Given the description of an element on the screen output the (x, y) to click on. 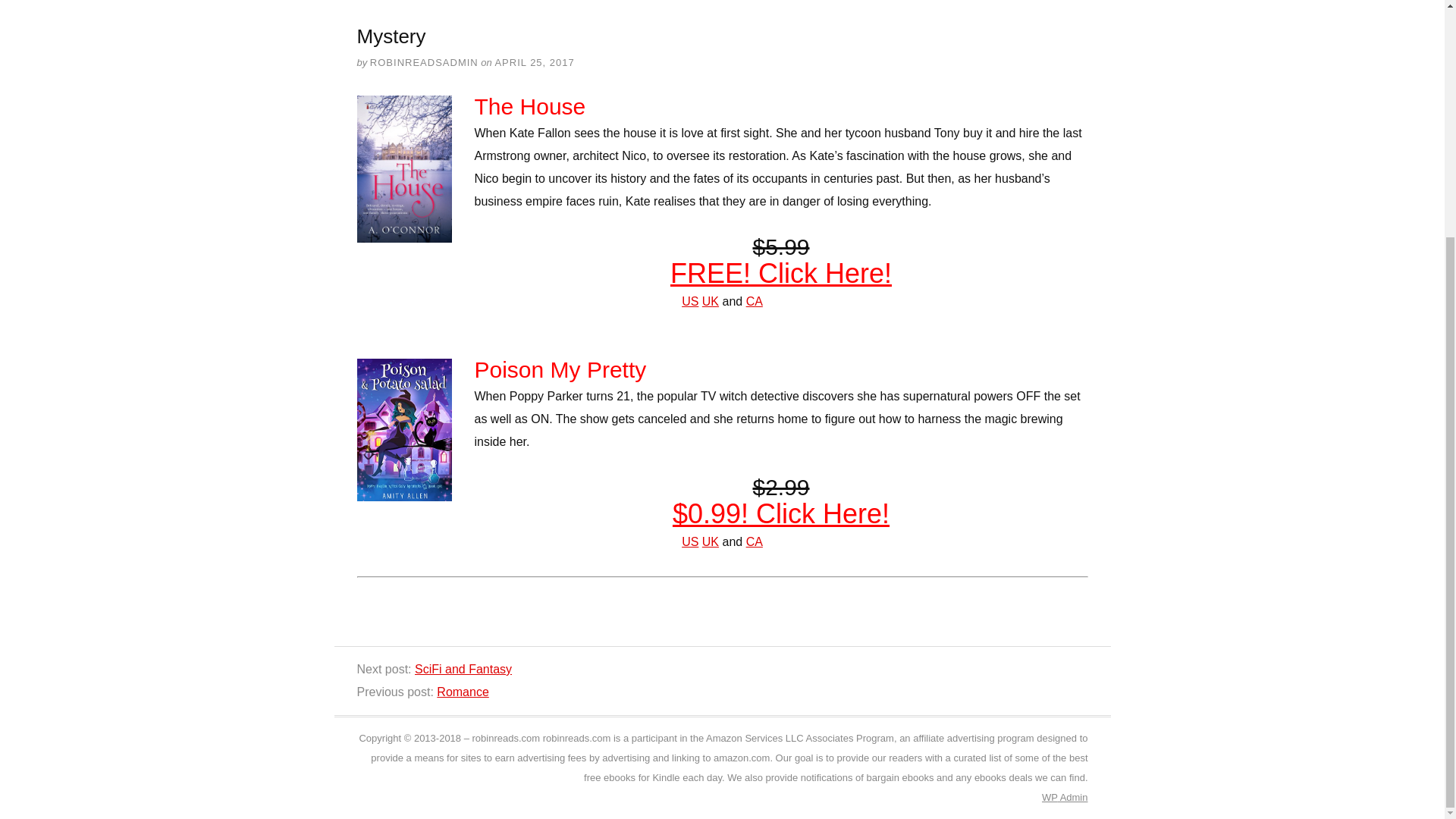
UK (710, 300)
WordPress (1050, 797)
SciFi and Fantasy (463, 668)
2017-04-25 (534, 61)
US (689, 300)
UK (710, 541)
WP Admin (1064, 797)
US (689, 541)
Romance (461, 691)
CA (753, 541)
